Given the description of an element on the screen output the (x, y) to click on. 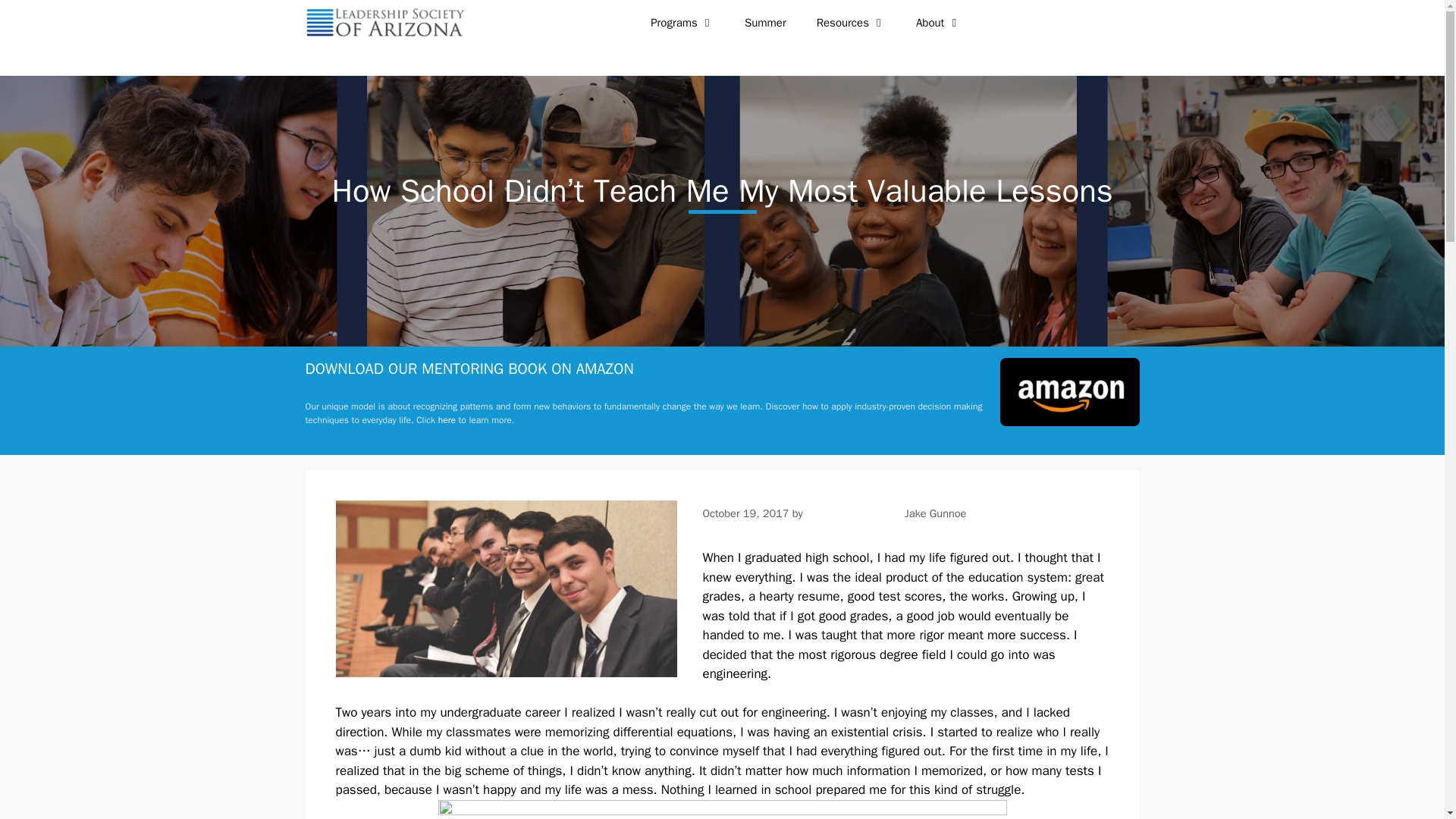
Buy Now at Amazon (1069, 422)
Leadership Society of Arizona (384, 22)
here (446, 419)
Buy Now at Amazon (446, 419)
About (938, 22)
Jake Gunnoe (935, 513)
Programs (681, 22)
Summer (765, 22)
View all posts by Jake Gunnoe (935, 513)
Resources (851, 22)
